Given the description of an element on the screen output the (x, y) to click on. 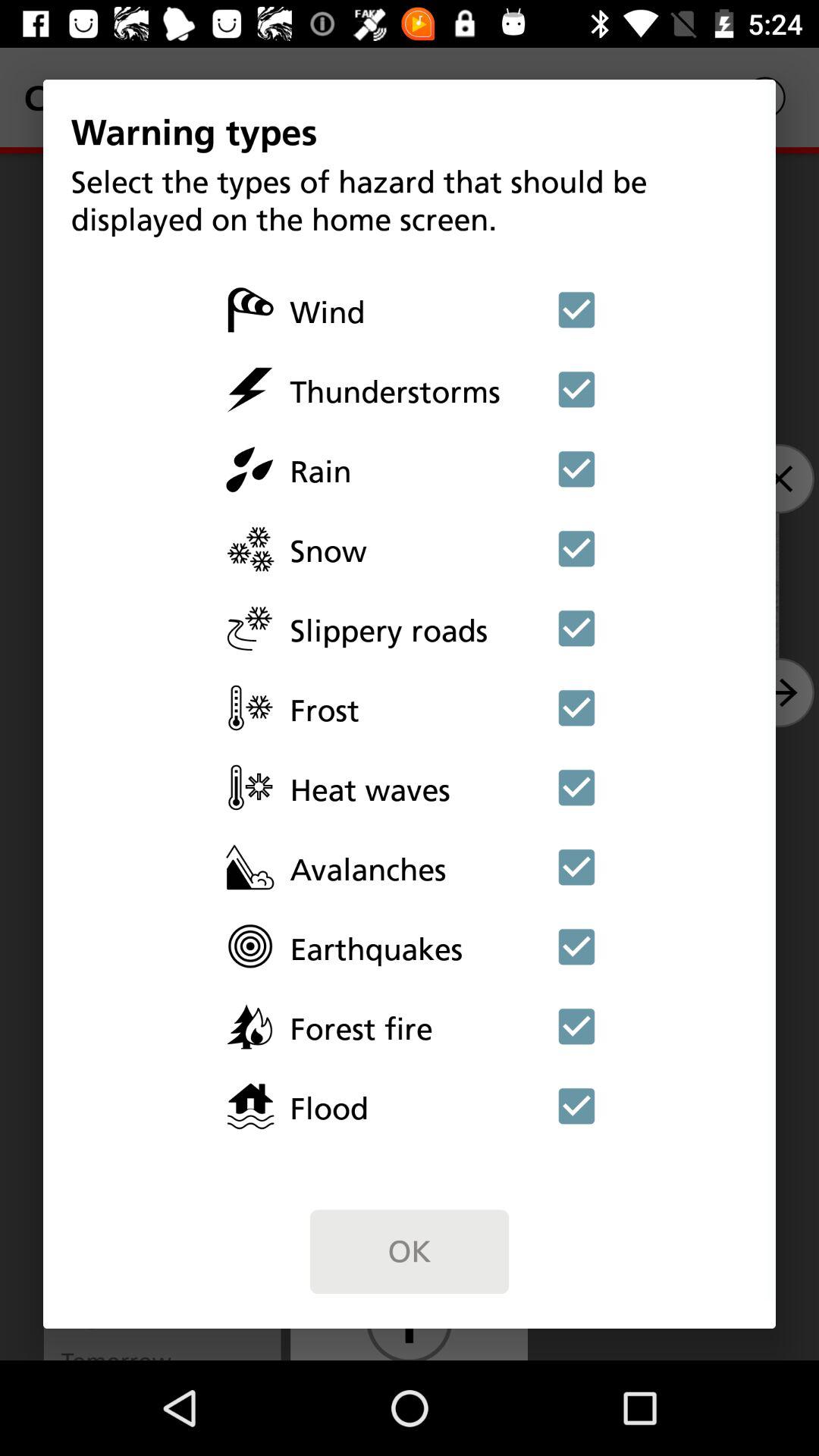
temperature (576, 787)
